Given the description of an element on the screen output the (x, y) to click on. 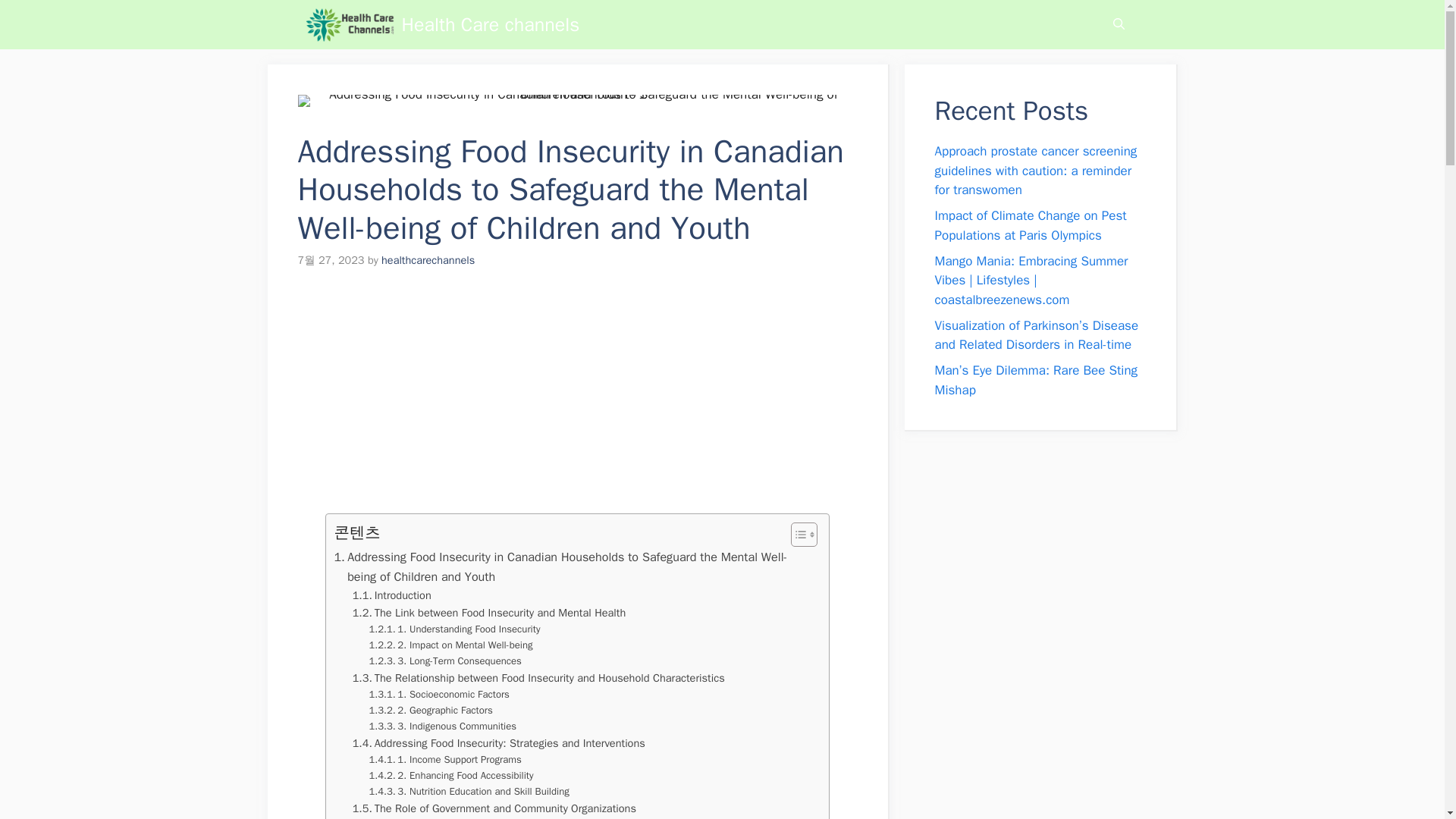
3. Long-Term Consequences (444, 661)
3. Indigenous Communities (442, 726)
3. Nutrition Education and Skill Building (468, 791)
The Link between Food Insecurity and Mental Health (489, 612)
View all posts by healthcarechannels (427, 259)
Advertisement (569, 400)
The Link between Food Insecurity and Mental Health (489, 612)
2. Impact on Mental Well-being (450, 645)
